Given the description of an element on the screen output the (x, y) to click on. 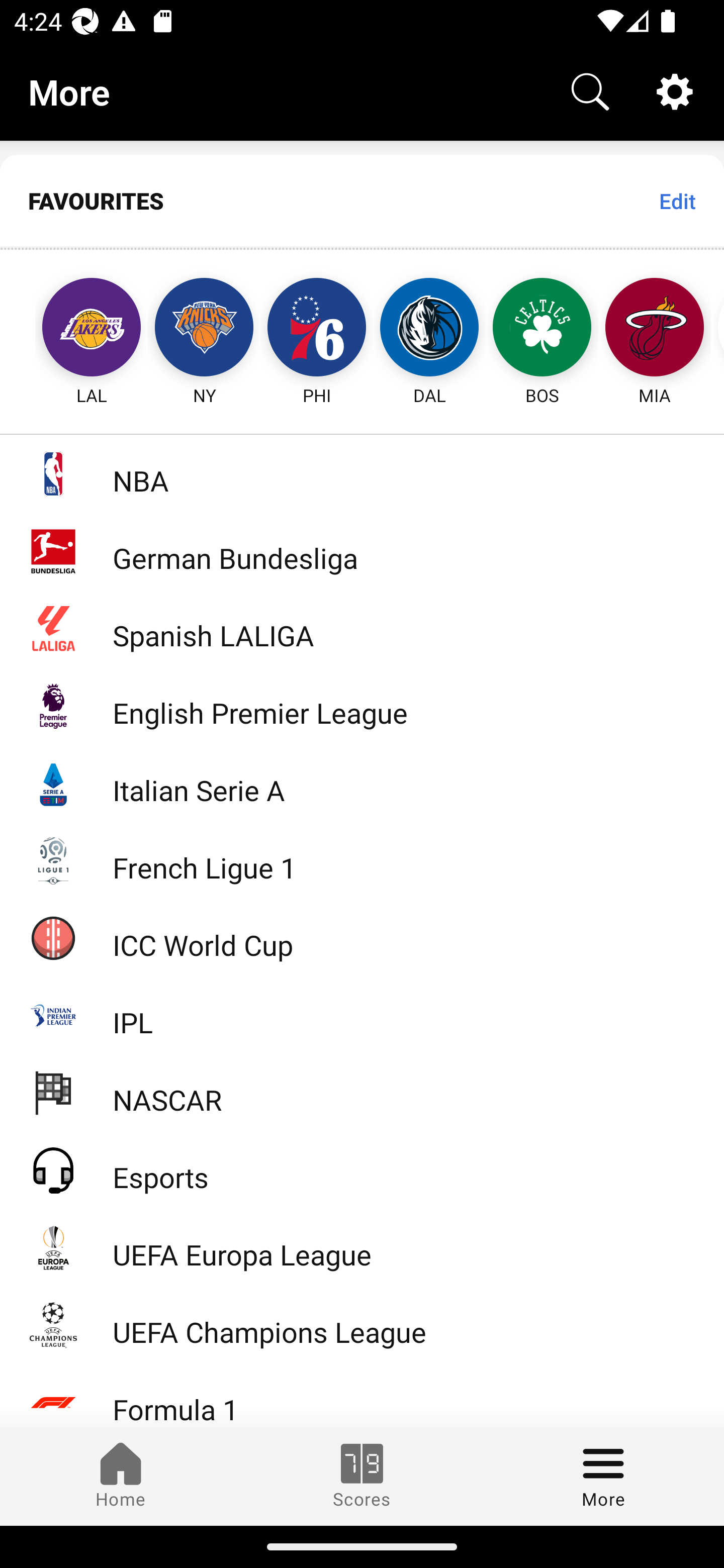
Search (590, 90)
Settings (674, 90)
Edit (676, 200)
LAL Los Angeles Lakers (73, 328)
NY New York Knicks (203, 328)
PHI Philadelphia 76ers (316, 328)
DAL Dallas Mavericks (428, 328)
BOS Boston Celtics (541, 328)
MIA Miami Heat (654, 328)
NBA (362, 473)
German Bundesliga (362, 550)
Spanish LALIGA (362, 627)
English Premier League (362, 705)
Italian Serie A (362, 782)
French Ligue 1 (362, 859)
ICC World Cup (362, 937)
IPL (362, 1014)
NASCAR (362, 1091)
Esports (362, 1169)
UEFA Europa League (362, 1246)
